Given the description of an element on the screen output the (x, y) to click on. 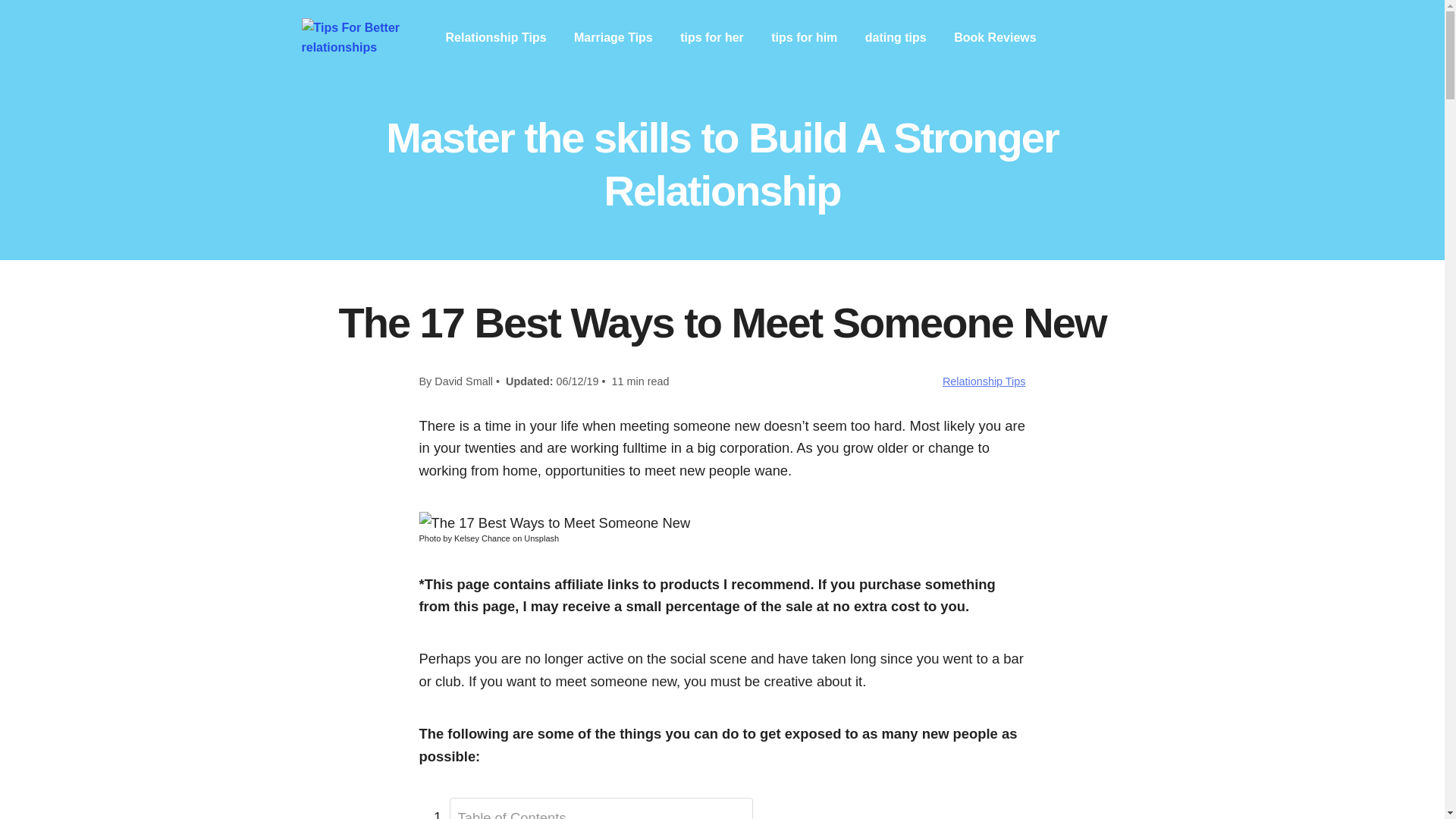
Marriage Tips (612, 37)
tips for her (711, 37)
dating tips (895, 37)
Relationship Tips (496, 37)
tips for him (804, 37)
Book Reviews (994, 37)
Relationship Tips (984, 381)
